Given the description of an element on the screen output the (x, y) to click on. 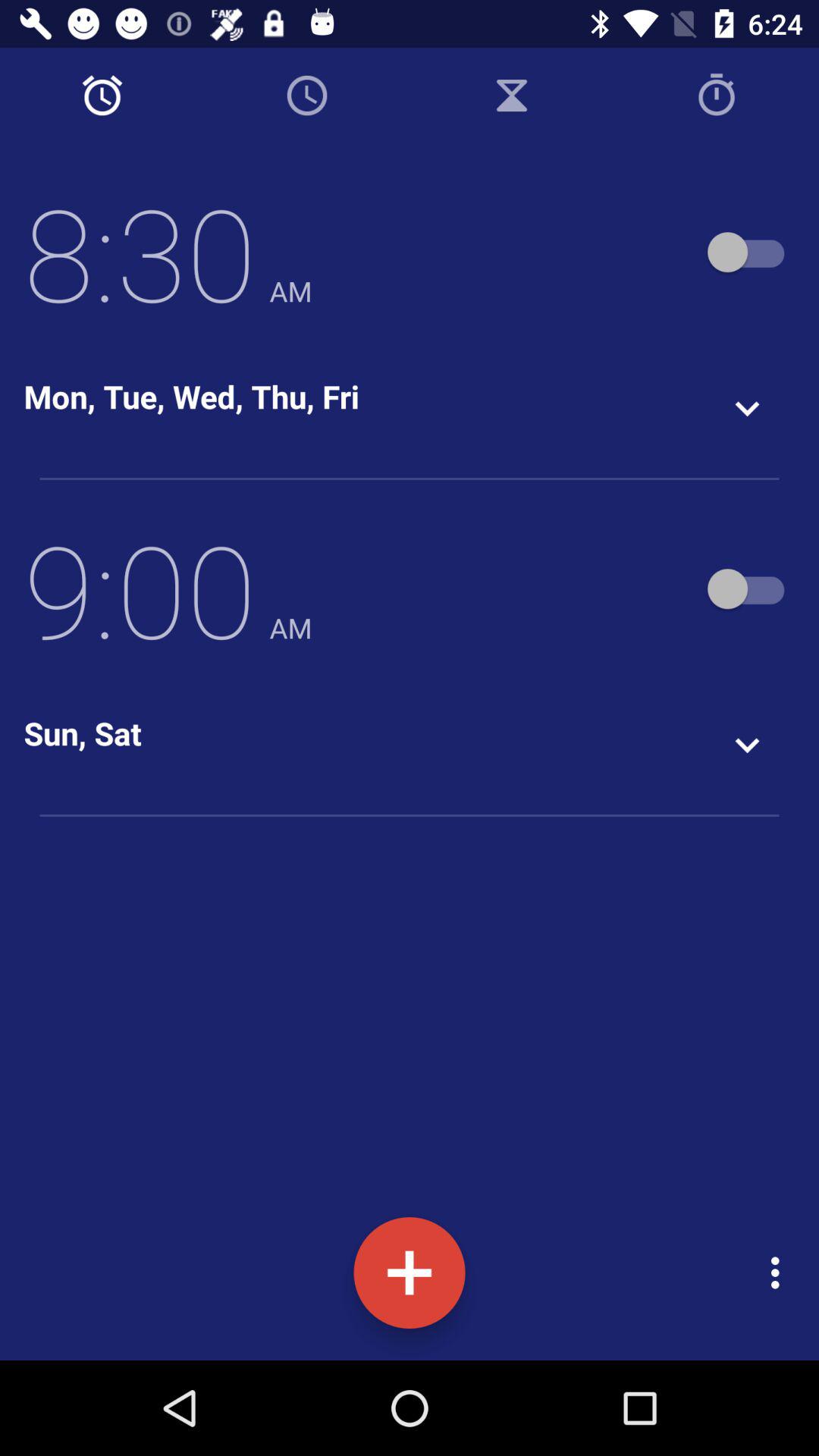
swipe to mon tue wed (191, 396)
